Given the description of an element on the screen output the (x, y) to click on. 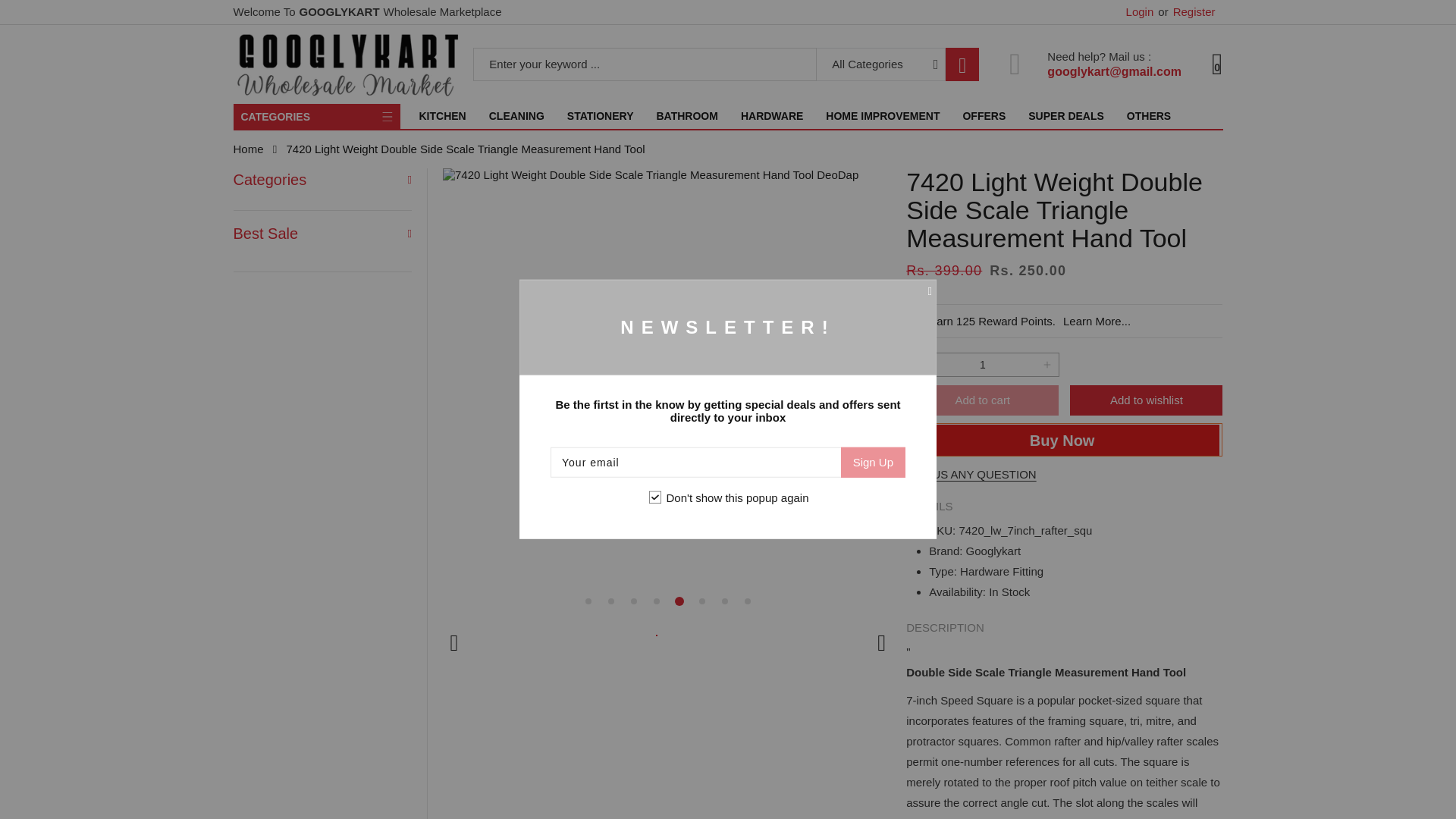
Login (1140, 12)
Add to wishlist (1146, 399)
CATEGORIES (316, 116)
1 (981, 363)
Back to the frontpage (247, 148)
Add to wishlist (1145, 399)
on (654, 497)
orRegister (1186, 12)
